Given the description of an element on the screen output the (x, y) to click on. 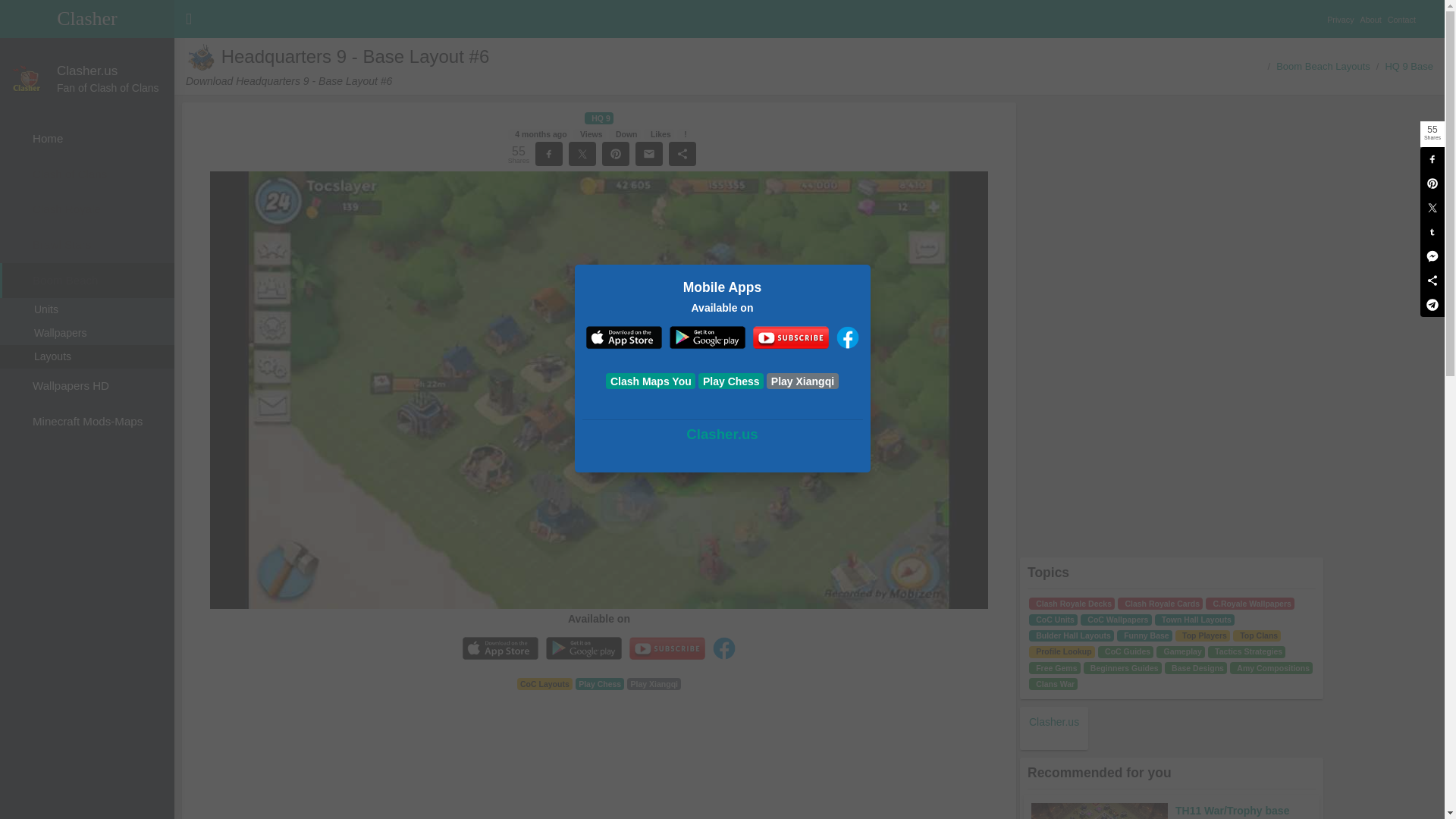
About (1373, 12)
Minecraft Mods-Maps (87, 421)
Contact (1404, 12)
Clash of Clans (87, 174)
Home (87, 139)
Privacy (1342, 12)
Boom Beach Layouts (1323, 66)
About Us (1373, 12)
Boom Beach units (87, 309)
HQ 9 (598, 118)
Clasher (87, 18)
Brawl Stars (87, 244)
Contact Us (1404, 12)
Wallpapers (87, 332)
Units (87, 309)
